Given the description of an element on the screen output the (x, y) to click on. 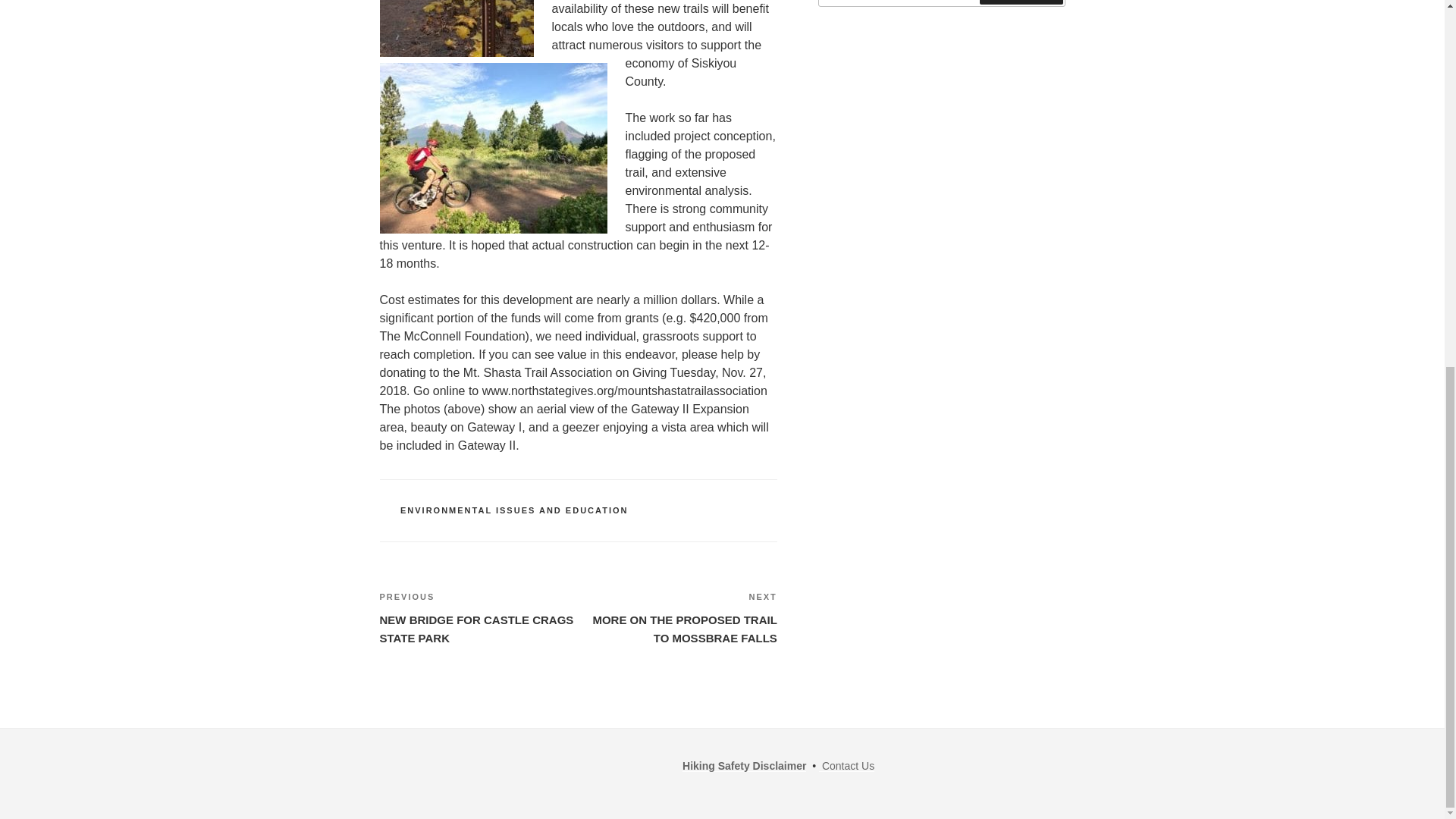
Instagram (585, 759)
 Contact Us (846, 766)
Facebook (505, 759)
Hiking Safety Disclaimer (677, 617)
ENVIRONMENTAL ISSUES AND EDUCATION (744, 766)
Search (513, 510)
